Given the description of an element on the screen output the (x, y) to click on. 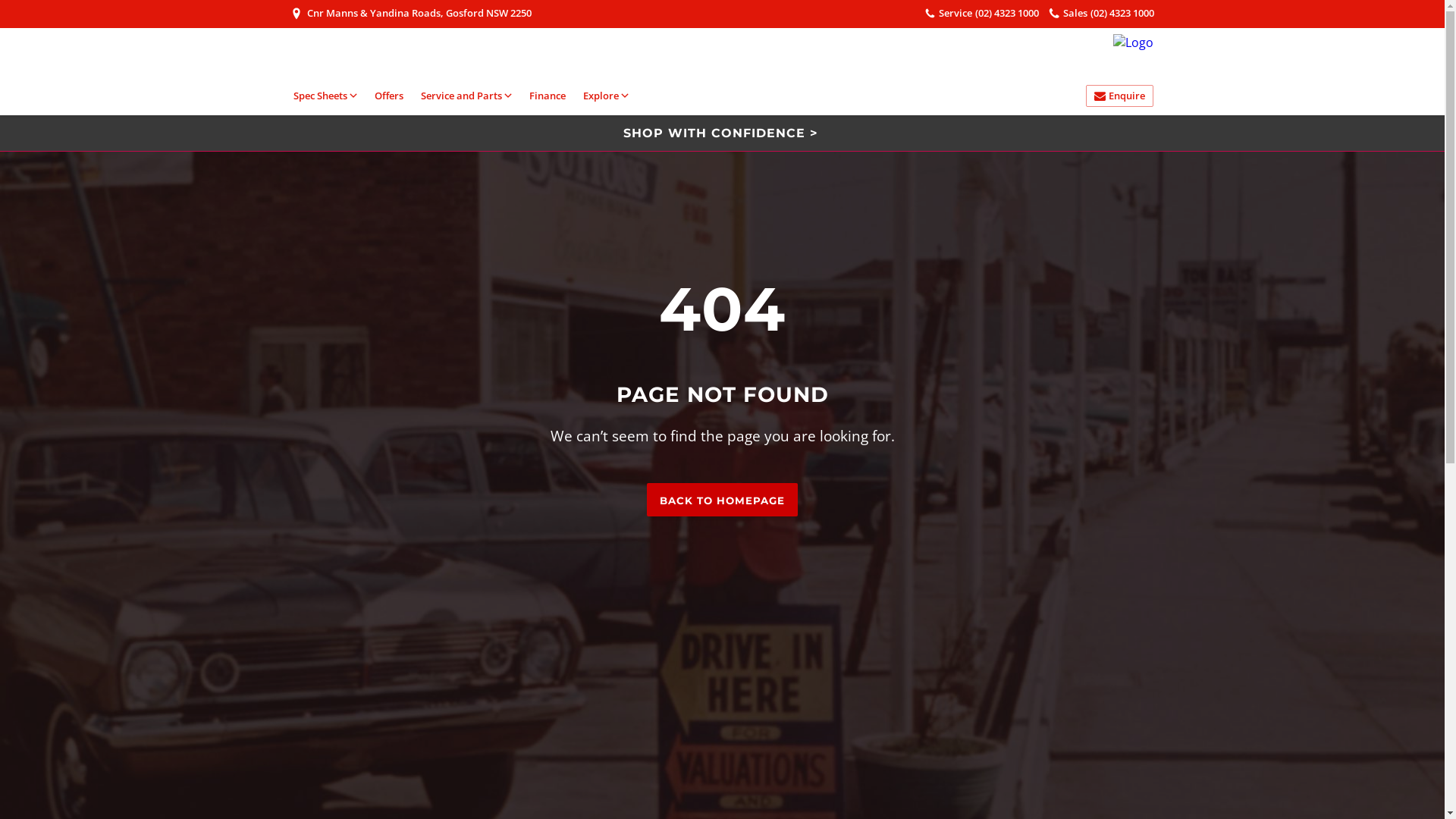
Service
(02) 4323 1000 Element type: text (982, 13)
Cnr Manns & Yandina Roads, Gosford NSW 2250 Element type: text (410, 13)
Offers Element type: text (388, 95)
SHOP WITH CONFIDENCE > Element type: text (722, 132)
BACK TO HOMEPAGE Element type: text (721, 499)
Finance Element type: text (546, 95)
Sales
(02) 4323 1000 Element type: text (1102, 13)
